Given the description of an element on the screen output the (x, y) to click on. 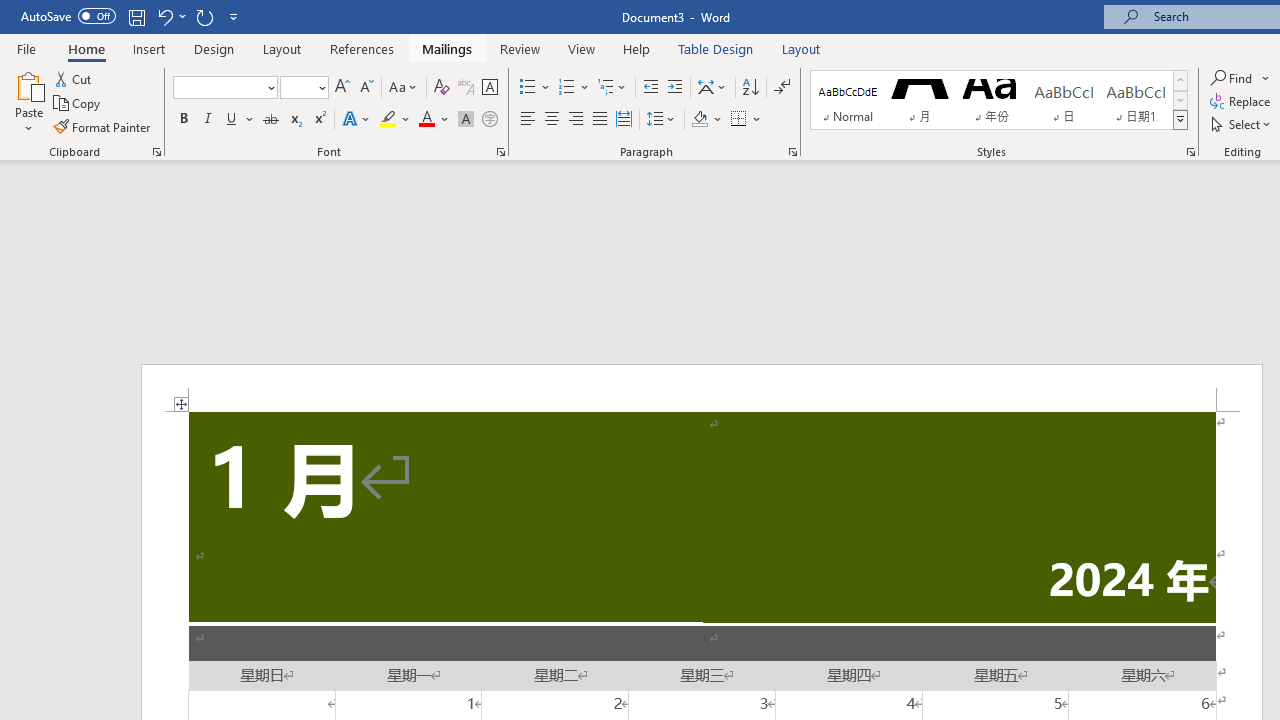
Undo Distribute Para (164, 15)
